Given the description of an element on the screen output the (x, y) to click on. 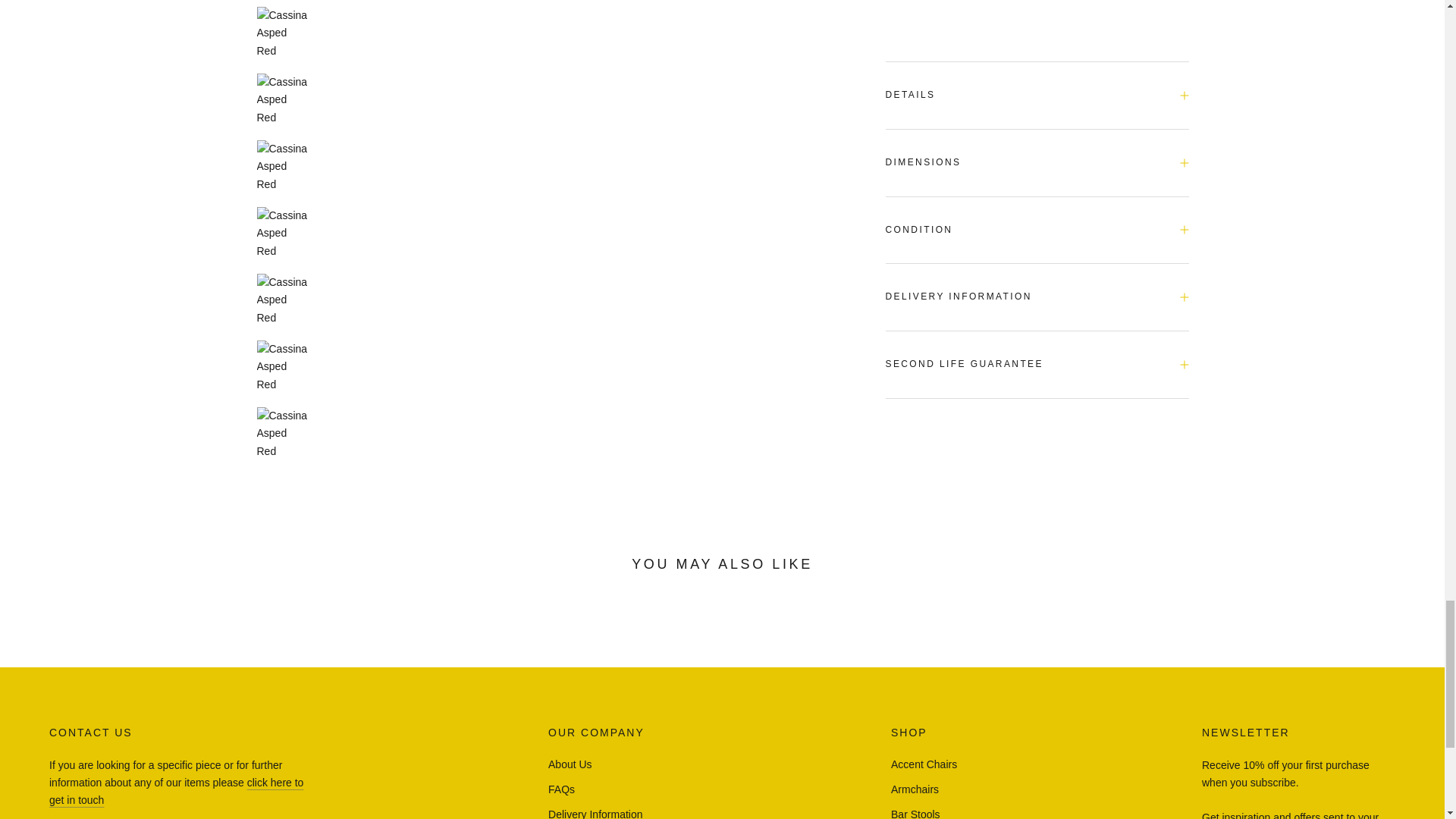
Contact (175, 790)
